Given the description of an element on the screen output the (x, y) to click on. 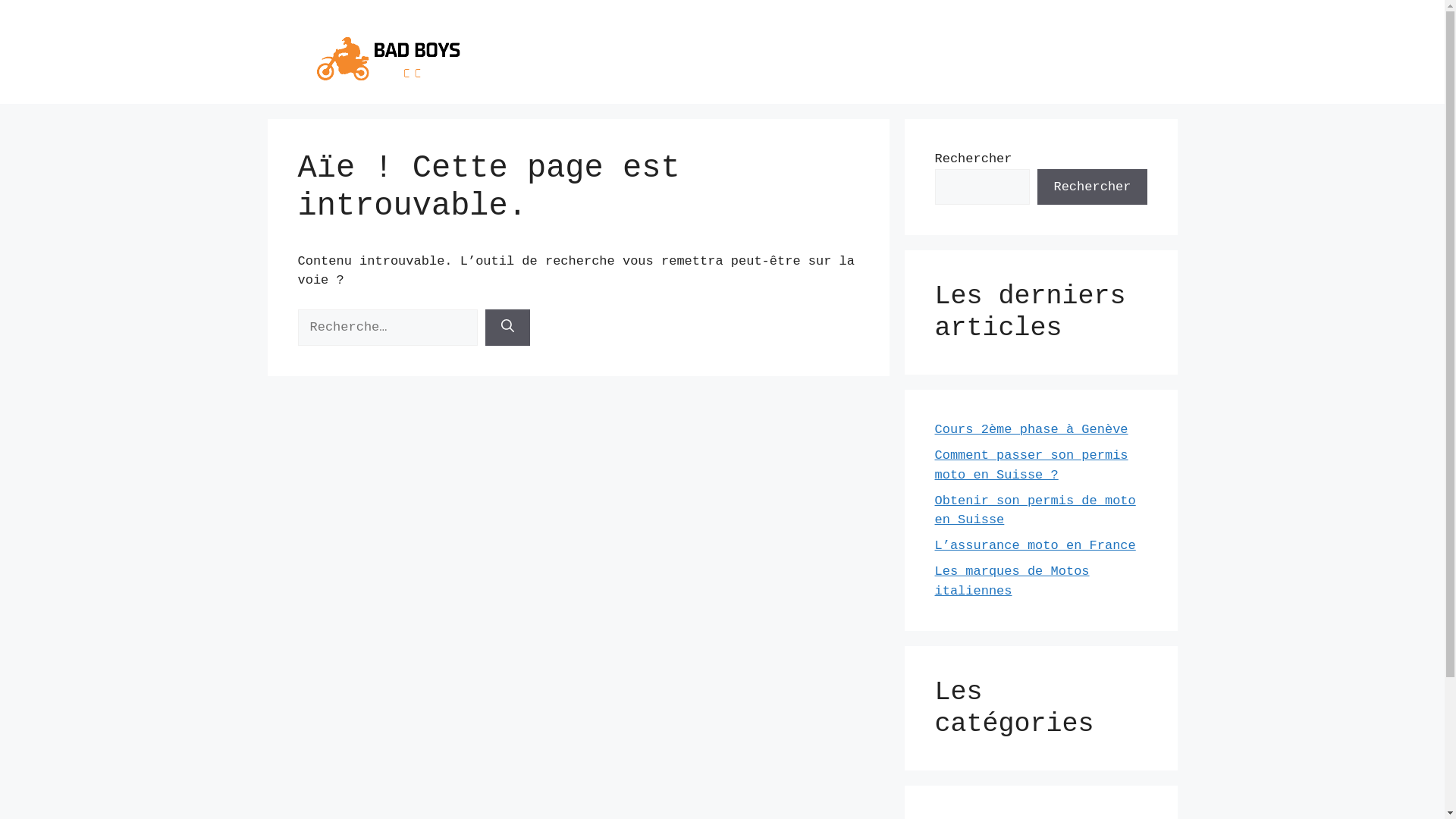
Obtenir son permis de moto en Suisse Element type: text (1034, 509)
Rechercher Element type: text (1091, 186)
Comment passer son permis moto en Suisse ? Element type: text (1030, 465)
Les marques de Motos italiennes Element type: text (1011, 581)
